Given the description of an element on the screen output the (x, y) to click on. 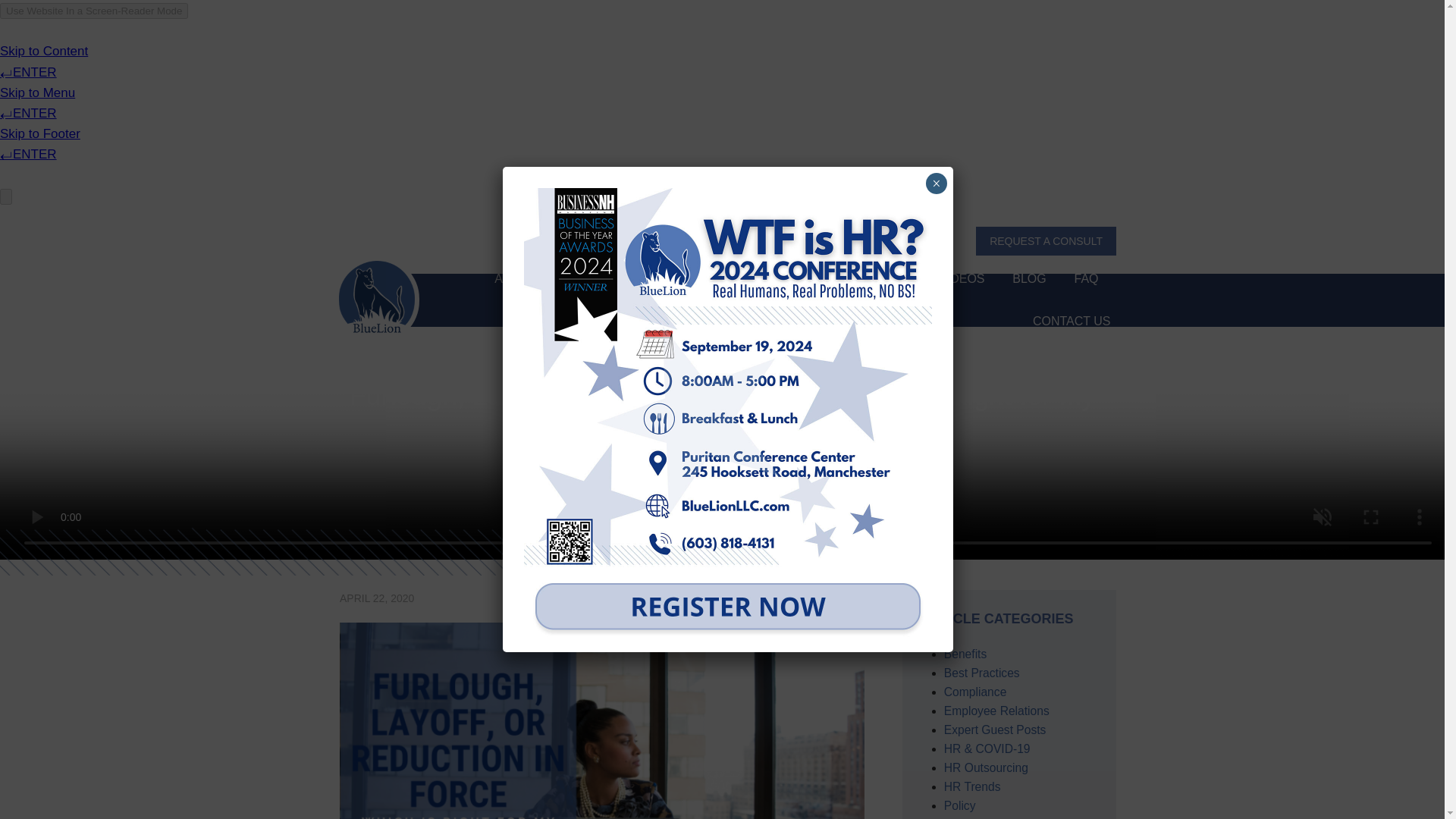
Twitter (730, 240)
SEARCH (927, 241)
ABOUT (515, 278)
603-818-4131 (846, 241)
EVENTS (676, 278)
SERVICES (595, 278)
Blue Lion HR Consulting (376, 299)
FAQ (1085, 278)
BLOG (1028, 278)
Youtube (786, 240)
Facebook (711, 240)
Linkedin (767, 240)
CONTACT US (1071, 321)
Instagram (748, 240)
REQUEST A CONSULT (1045, 240)
